Given the description of an element on the screen output the (x, y) to click on. 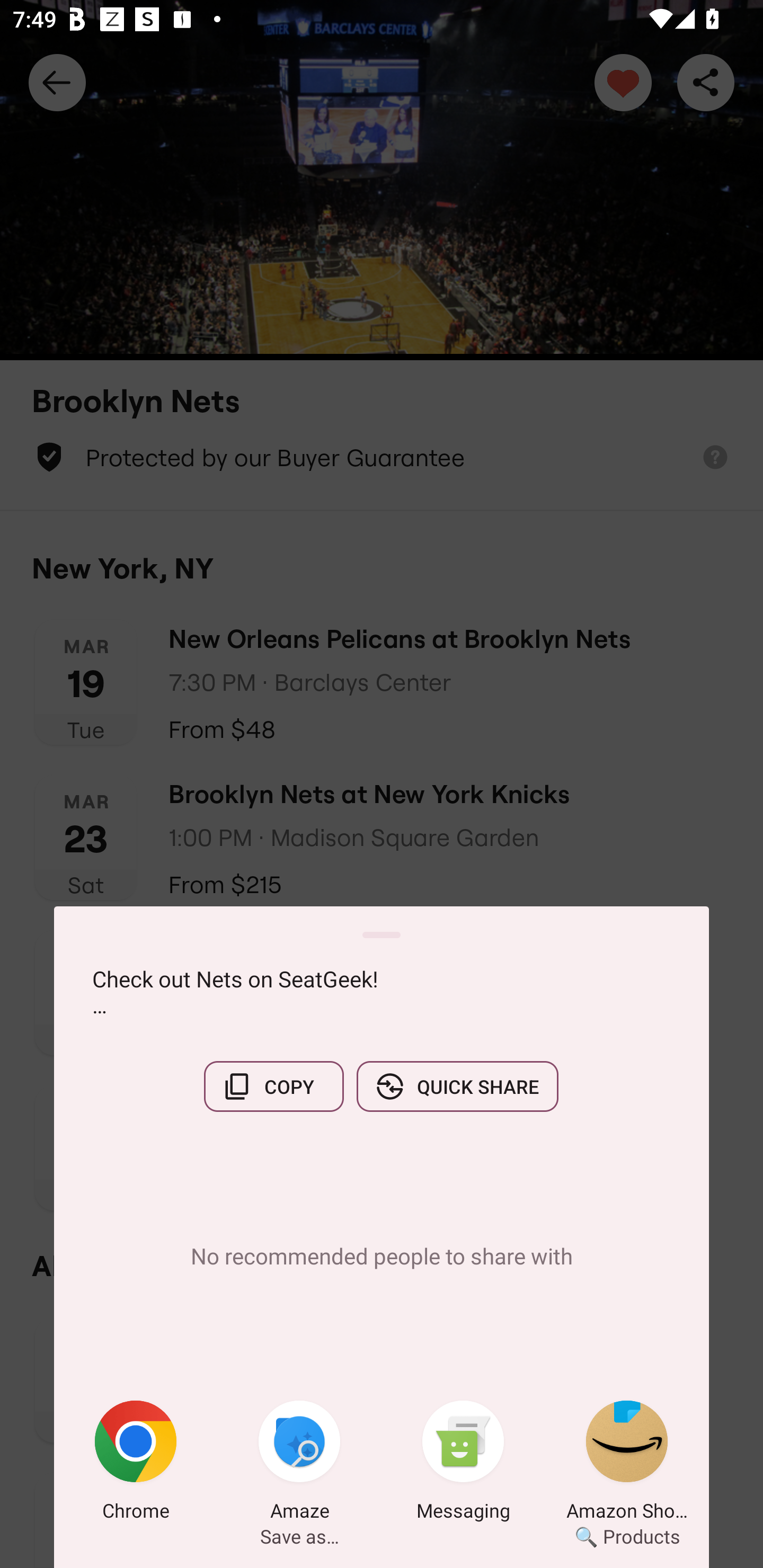
COPY (273, 1086)
QUICK SHARE (457, 1086)
Chrome (135, 1463)
Amaze Save as… (299, 1463)
Messaging (463, 1463)
Amazon Shopping 🔍 Products (626, 1463)
